Given the description of an element on the screen output the (x, y) to click on. 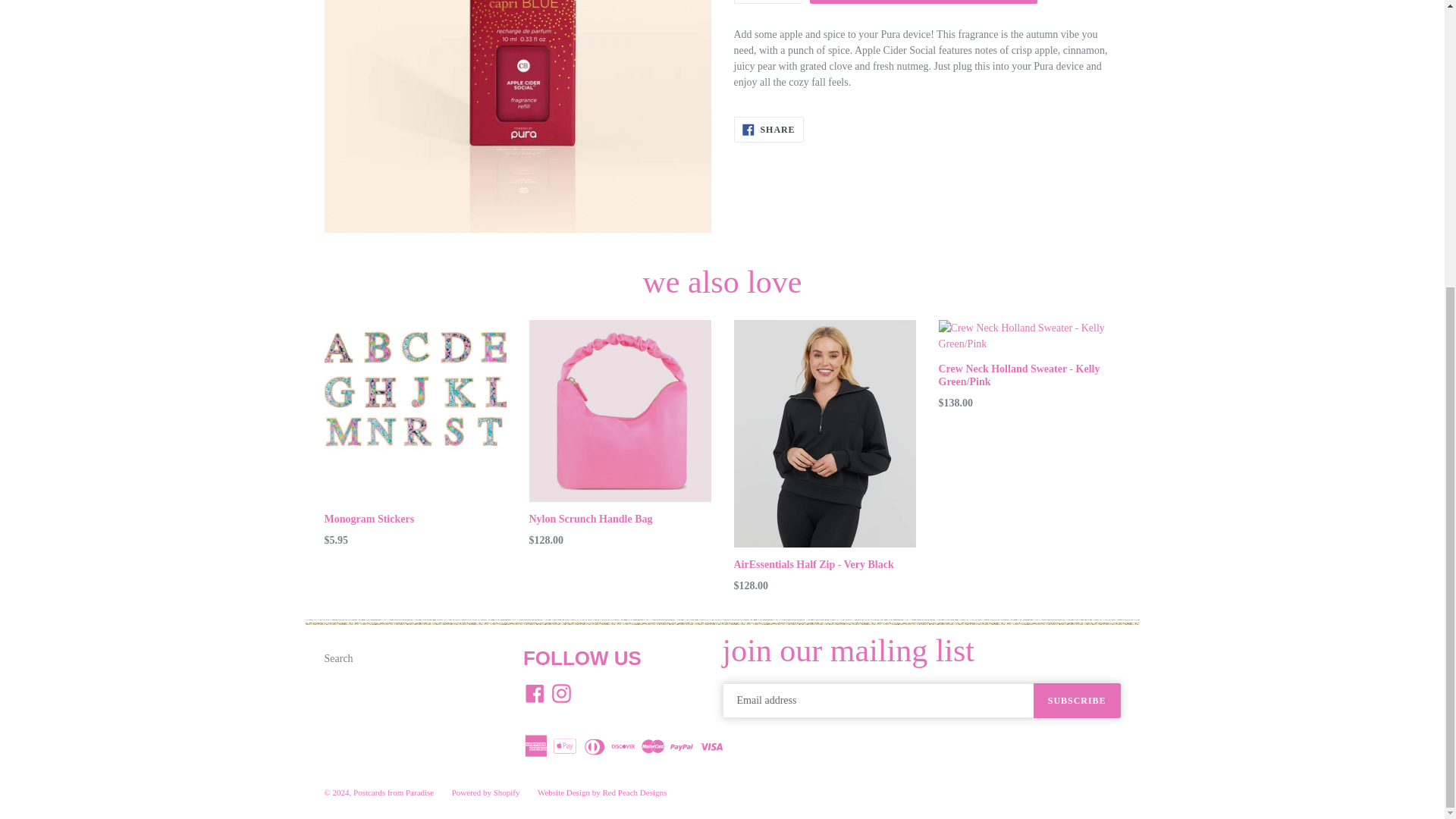
1 (767, 2)
Share on Facebook (768, 129)
Postcards from Paradise on Instagram (560, 692)
Postcards from Paradise on Facebook (534, 692)
